Given the description of an element on the screen output the (x, y) to click on. 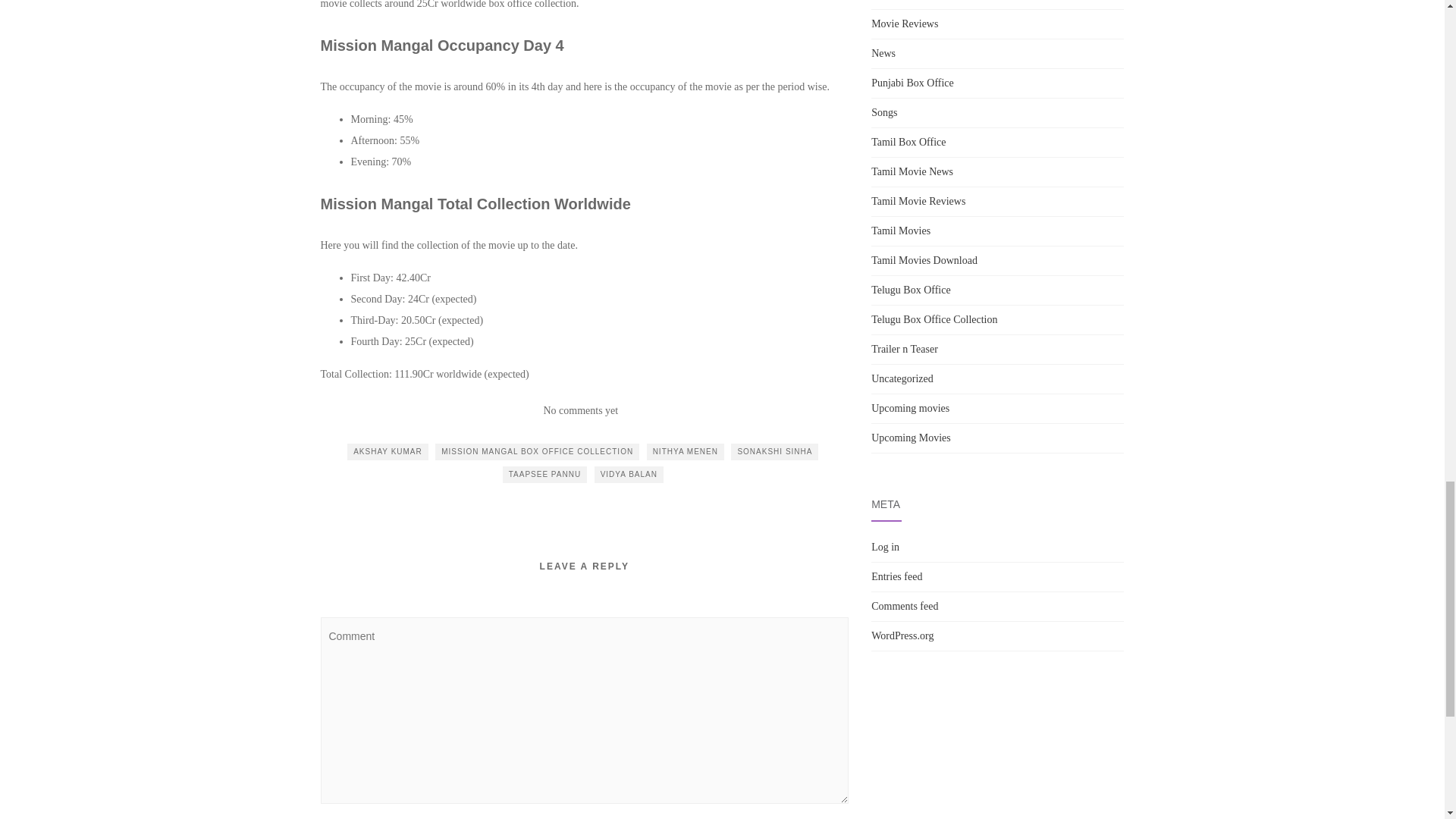
NITHYA MENEN (684, 451)
TAAPSEE PANNU (544, 474)
MISSION MANGAL BOX OFFICE COLLECTION (537, 451)
No comments yet (580, 410)
VIDYA BALAN (628, 474)
AKSHAY KUMAR (387, 451)
SONAKSHI SINHA (774, 451)
